Given the description of an element on the screen output the (x, y) to click on. 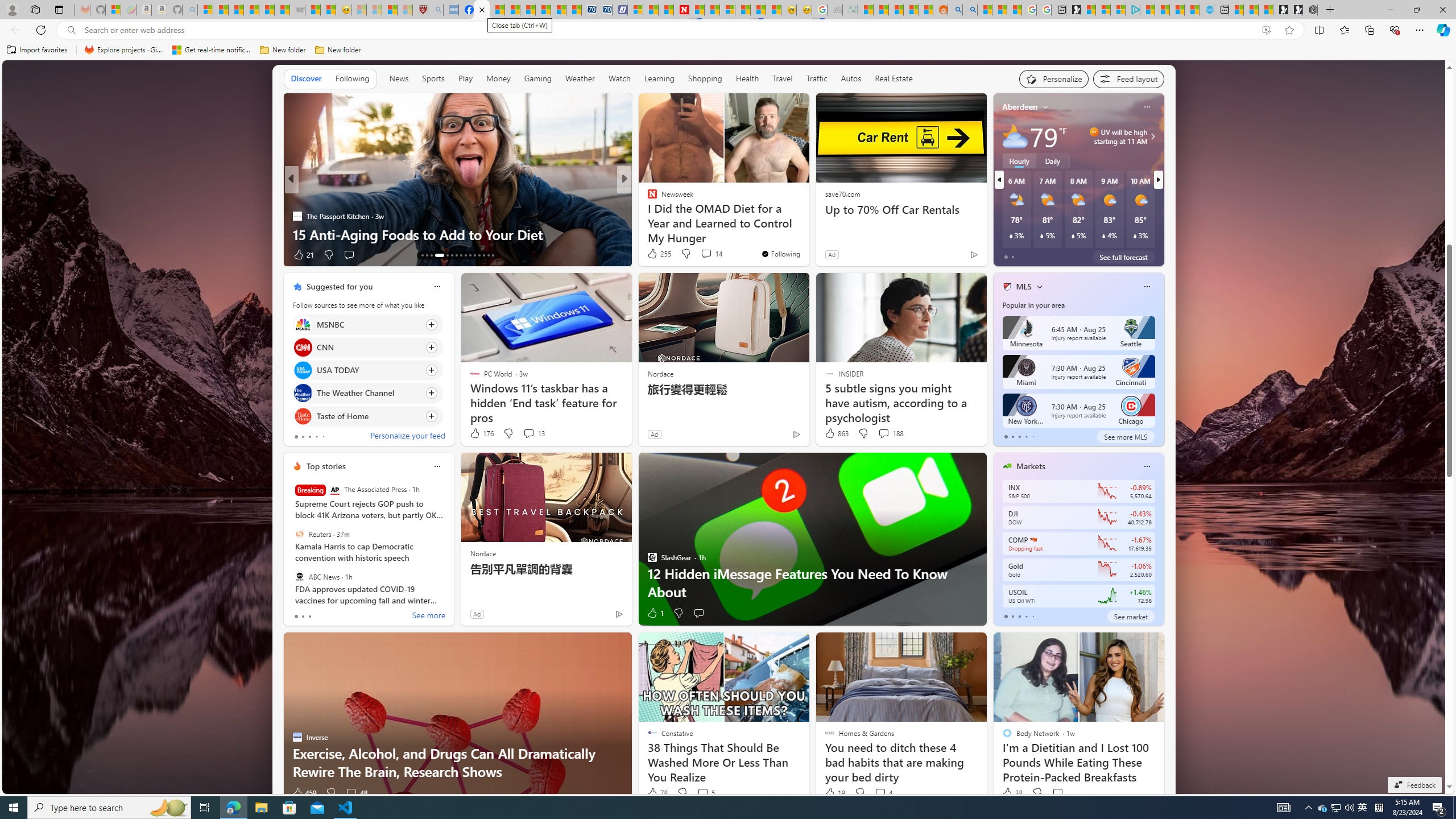
BuzzFeed (647, 197)
next (1158, 179)
Sports (432, 78)
Class: icon-img (1146, 465)
863 Like (835, 433)
You're following Newsweek (780, 253)
577 Like (654, 254)
Gaming (537, 78)
AutomationID: tab-92 (492, 255)
Import favorites (36, 49)
